Given the description of an element on the screen output the (x, y) to click on. 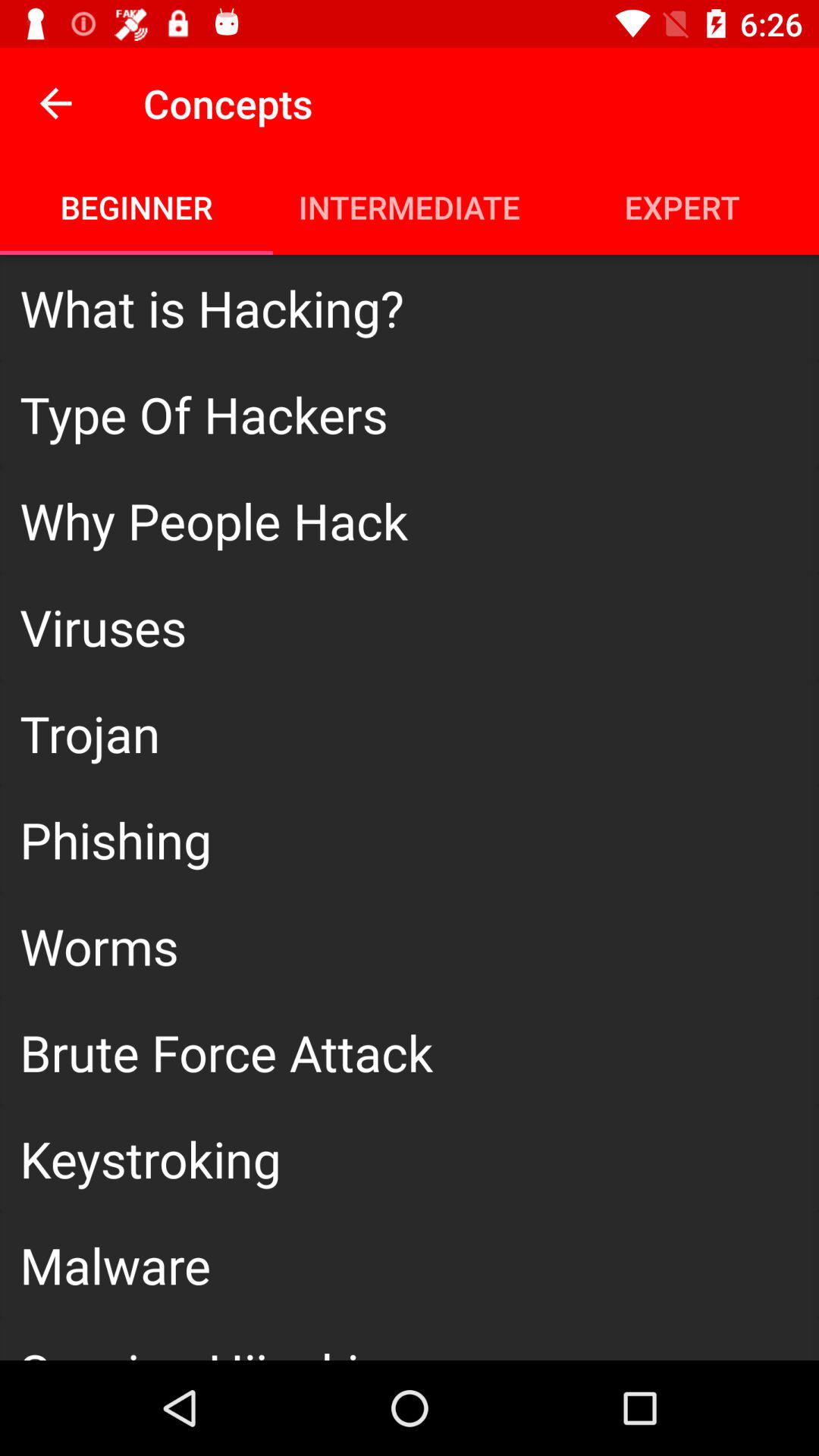
click the icon above beginner (55, 103)
